Given the description of an element on the screen output the (x, y) to click on. 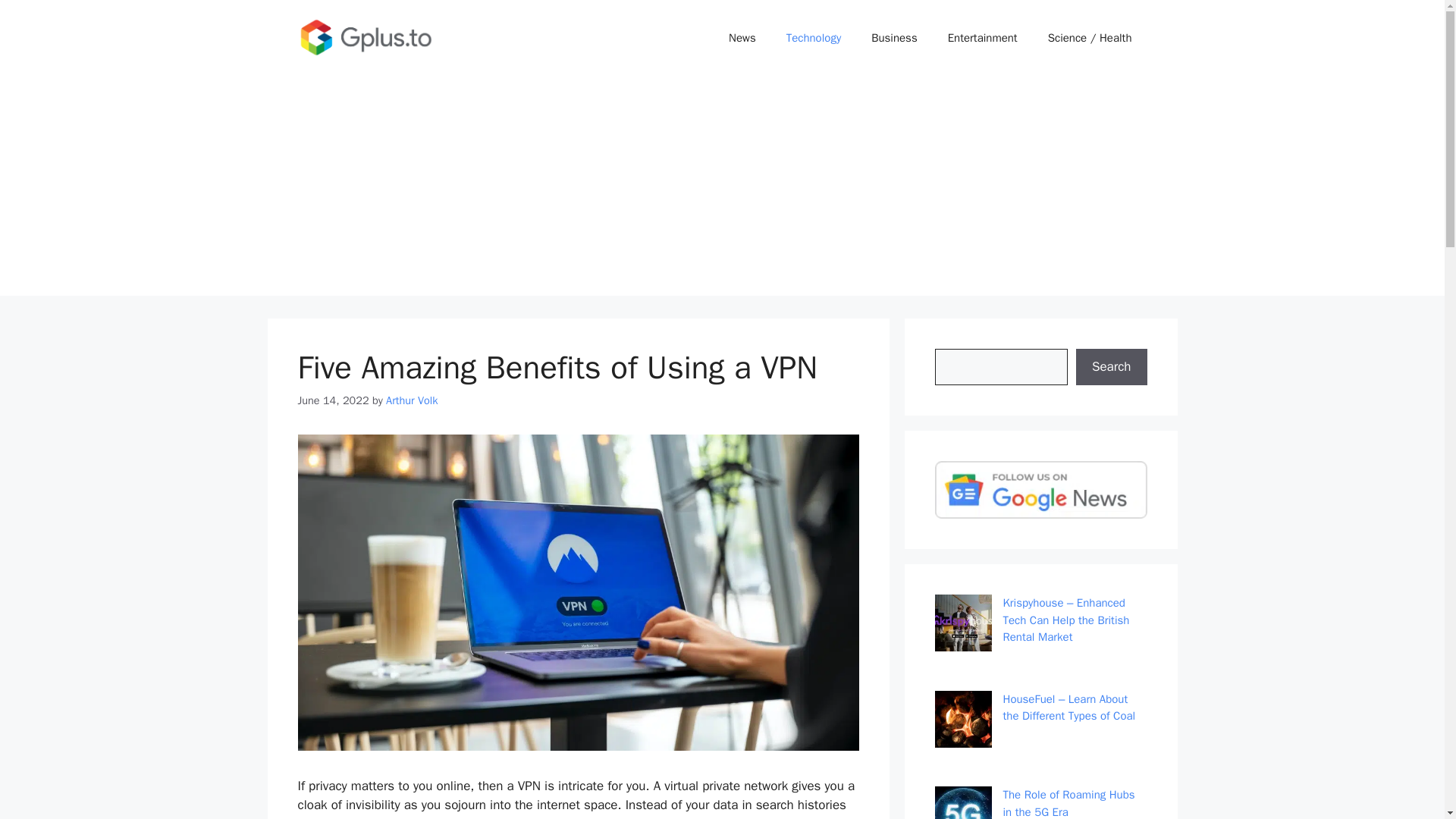
Business (894, 37)
Technology (814, 37)
The Role of Roaming Hubs in the 5G Era (1068, 803)
Arthur Volk (411, 400)
News (742, 37)
Gplus.to (365, 37)
Gplus.to (365, 36)
View all posts by Arthur Volk (411, 400)
Search (1111, 366)
